Given the description of an element on the screen output the (x, y) to click on. 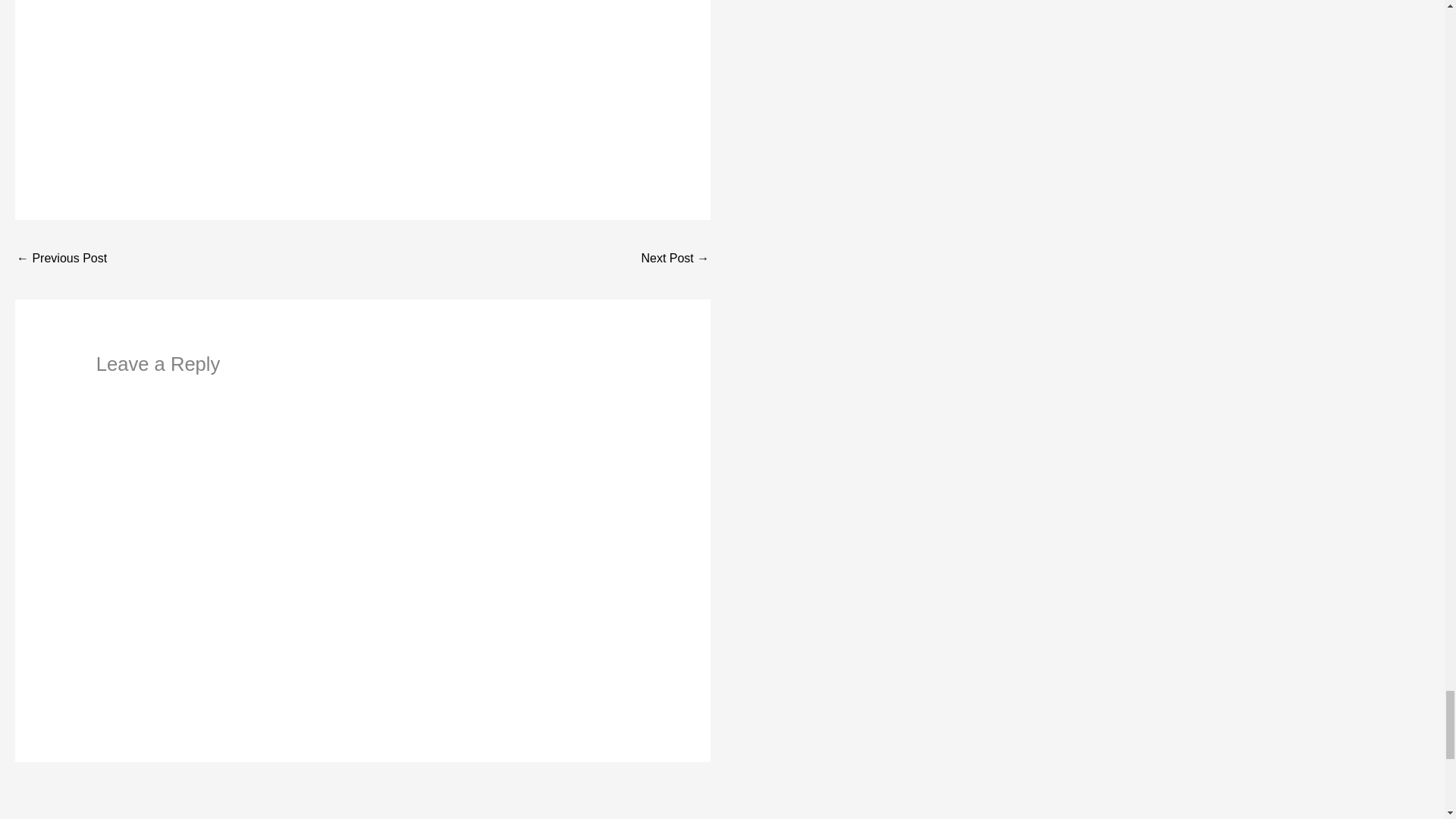
Blighted Ovum Miscarriage: What to Expect (674, 259)
Tahnee's Story (61, 259)
